Given the description of an element on the screen output the (x, y) to click on. 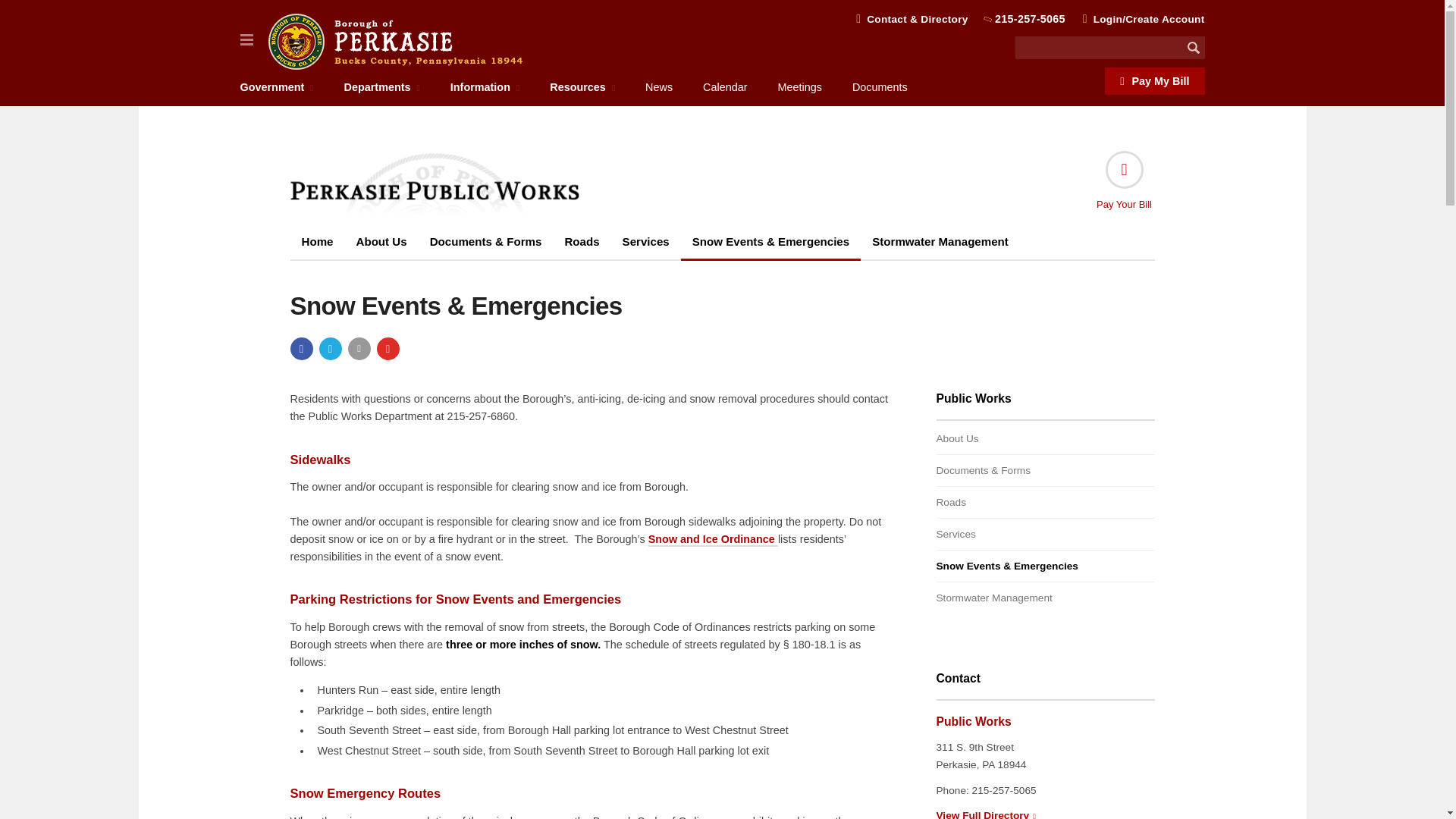
Information (484, 87)
Resources (582, 87)
Government (276, 87)
Back to the Home Page (394, 41)
Pay My Bill (1154, 81)
215-257-5065 (1029, 19)
Departments (382, 87)
